Given the description of an element on the screen output the (x, y) to click on. 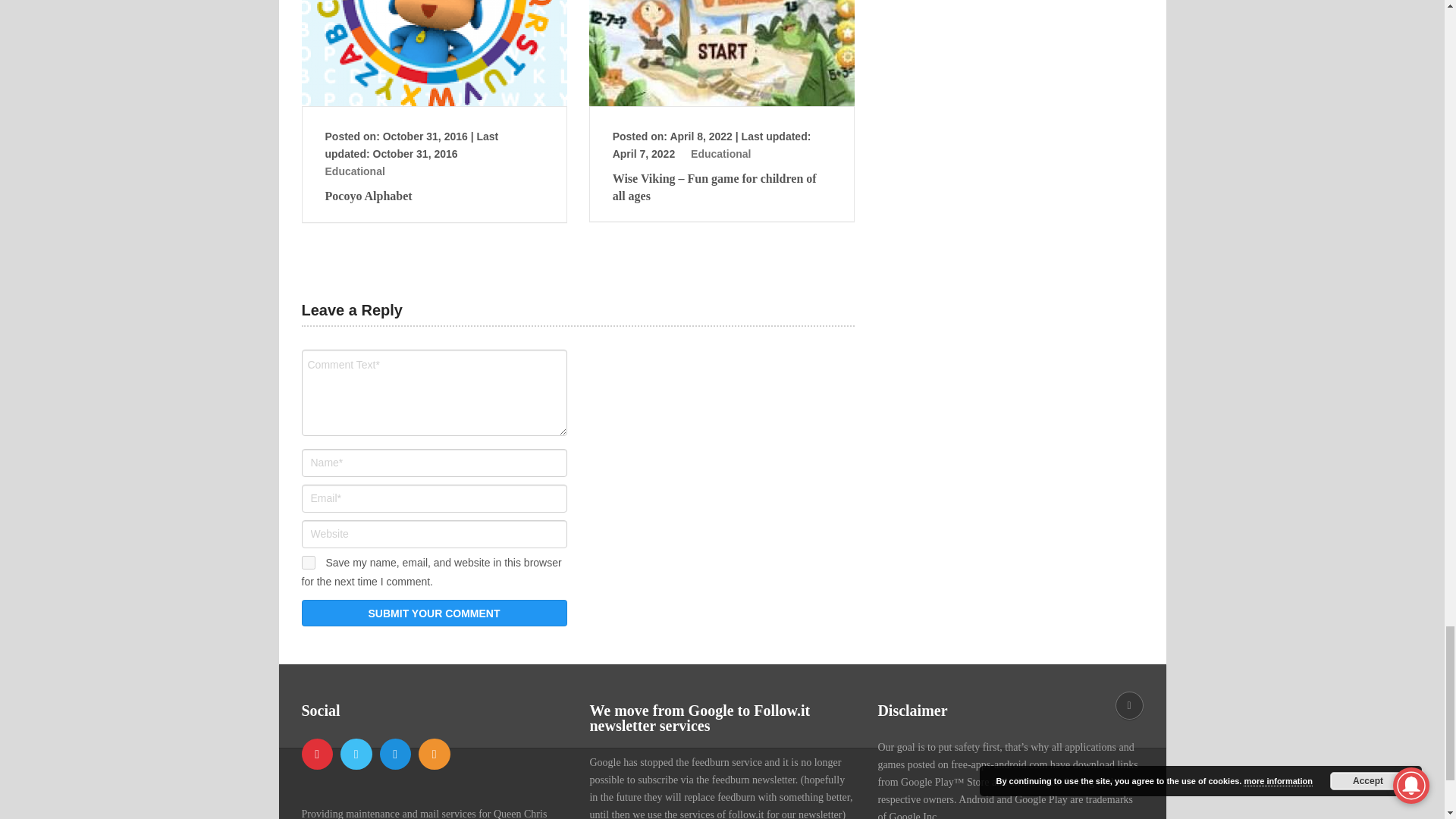
Pocoyo Alphabet (434, 53)
Pocoyo Alphabet (433, 196)
View all posts in Educational (720, 153)
View all posts in Educational (354, 171)
yes (308, 562)
Submit Your Comment (434, 612)
